Given the description of an element on the screen output the (x, y) to click on. 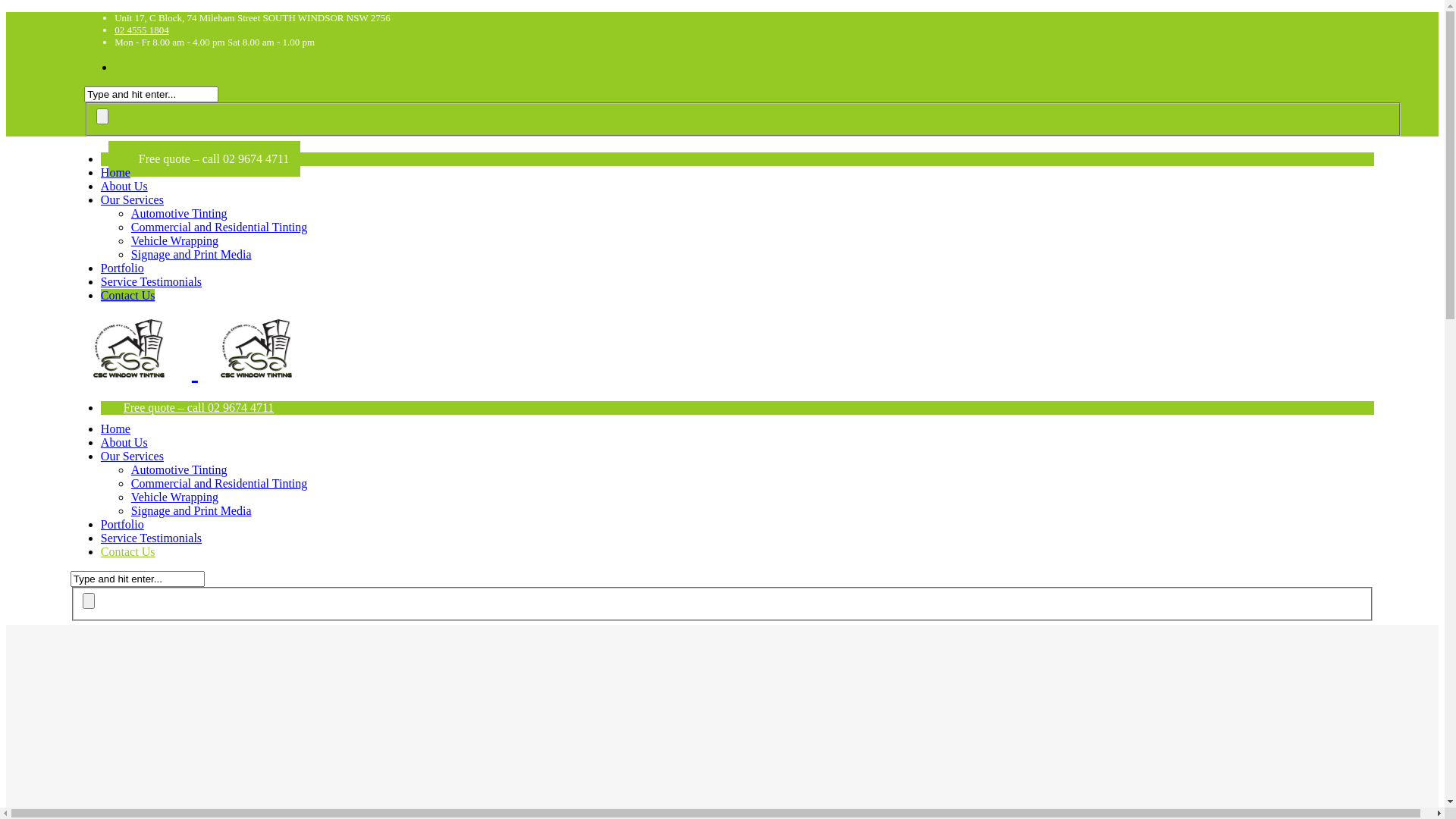
Commercial and Residential Tinting Element type: text (219, 482)
Portfolio Element type: text (122, 523)
About Us Element type: text (123, 442)
Home Element type: text (115, 428)
Automotive Tinting Element type: text (179, 213)
Portfolio Element type: text (122, 267)
02 4555 1804 Element type: text (141, 29)
Contact Us Element type: text (127, 551)
Contact Us Element type: text (127, 294)
About Us Element type: text (123, 185)
CSCWindowTinting Element type: hover (194, 370)
Home Element type: text (115, 172)
Our Services Element type: text (131, 199)
Vehicle Wrapping Element type: text (174, 496)
Our Services Element type: text (131, 455)
Automotive Tinting Element type: text (179, 469)
Service Testimonials Element type: text (150, 281)
Service Testimonials Element type: text (150, 537)
Signage and Print Media Element type: text (191, 253)
Vehicle Wrapping Element type: text (174, 240)
Commercial and Residential Tinting Element type: text (219, 226)
Signage and Print Media Element type: text (191, 510)
